Given the description of an element on the screen output the (x, y) to click on. 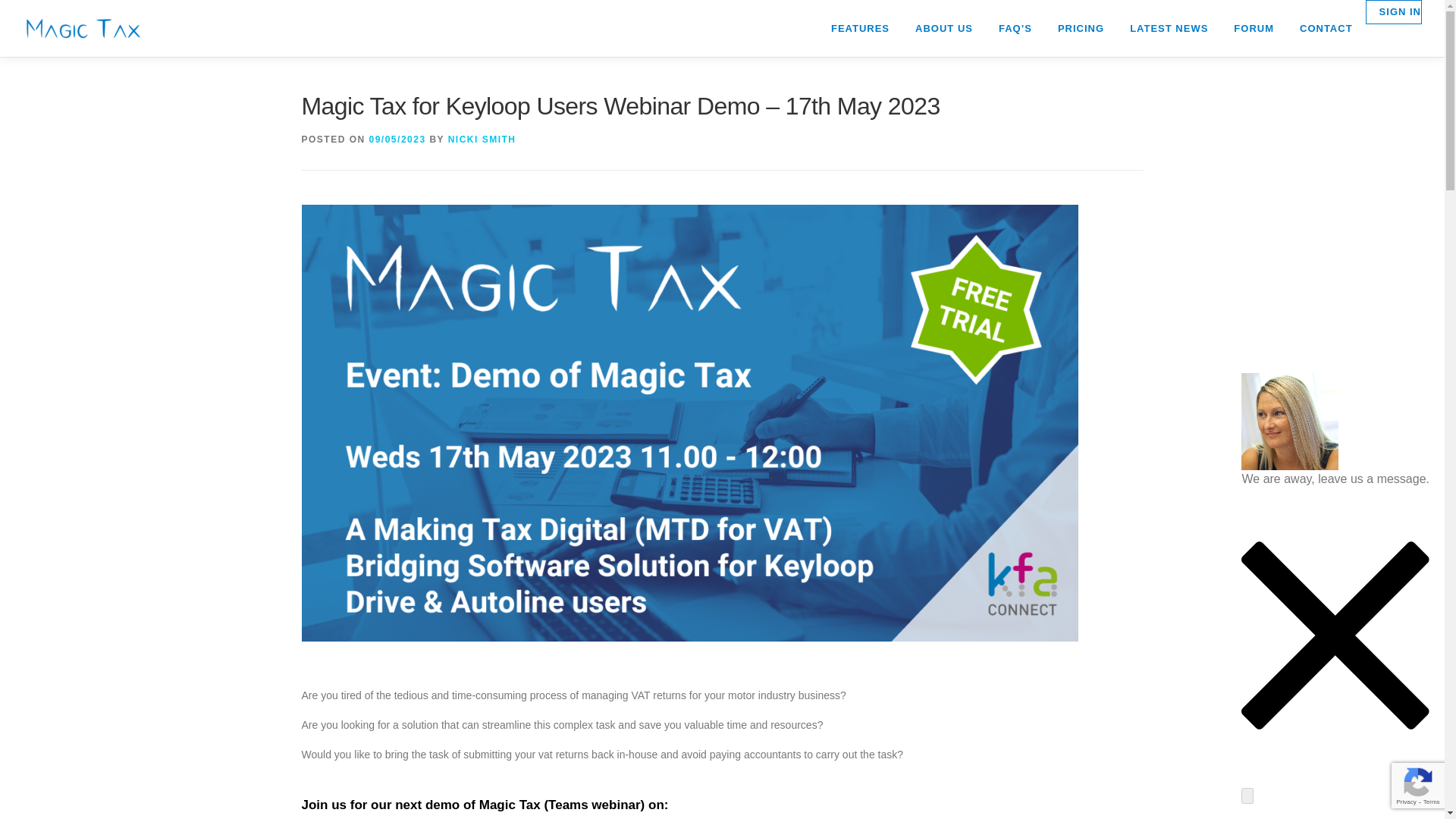
ABOUT US (943, 28)
NICKI SMITH (482, 139)
SIGN IN (1394, 11)
FORUM (1254, 28)
CONTACT (1326, 28)
FEATURES (860, 28)
PRICING (1080, 28)
LATEST NEWS (1168, 28)
